Given the description of an element on the screen output the (x, y) to click on. 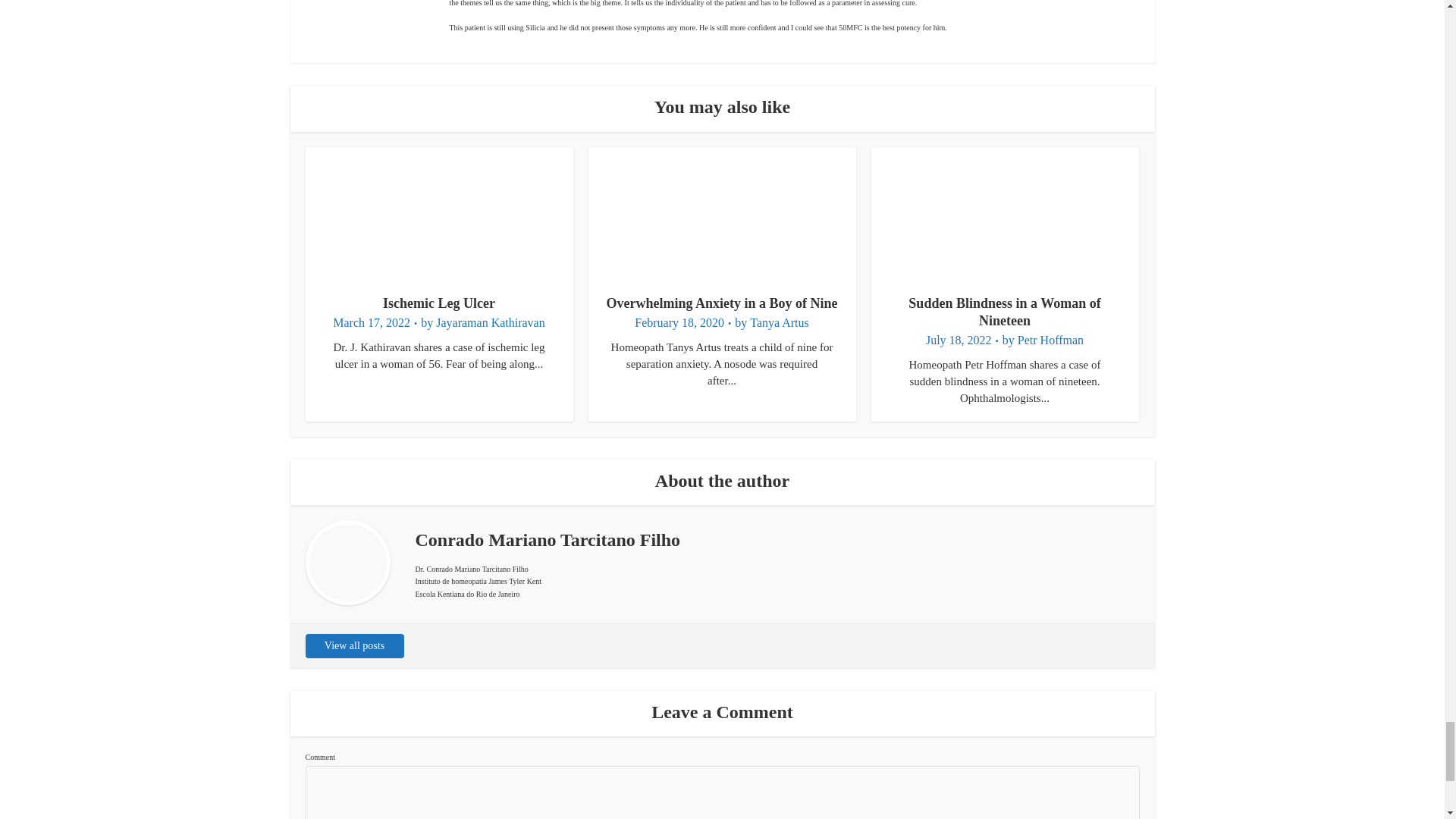
Overwhelming Anxiety in a Boy of Nine (722, 303)
Sudden Blindness in a Woman of Nineteen (1004, 311)
Ischemic Leg Ulcer (438, 303)
